Given the description of an element on the screen output the (x, y) to click on. 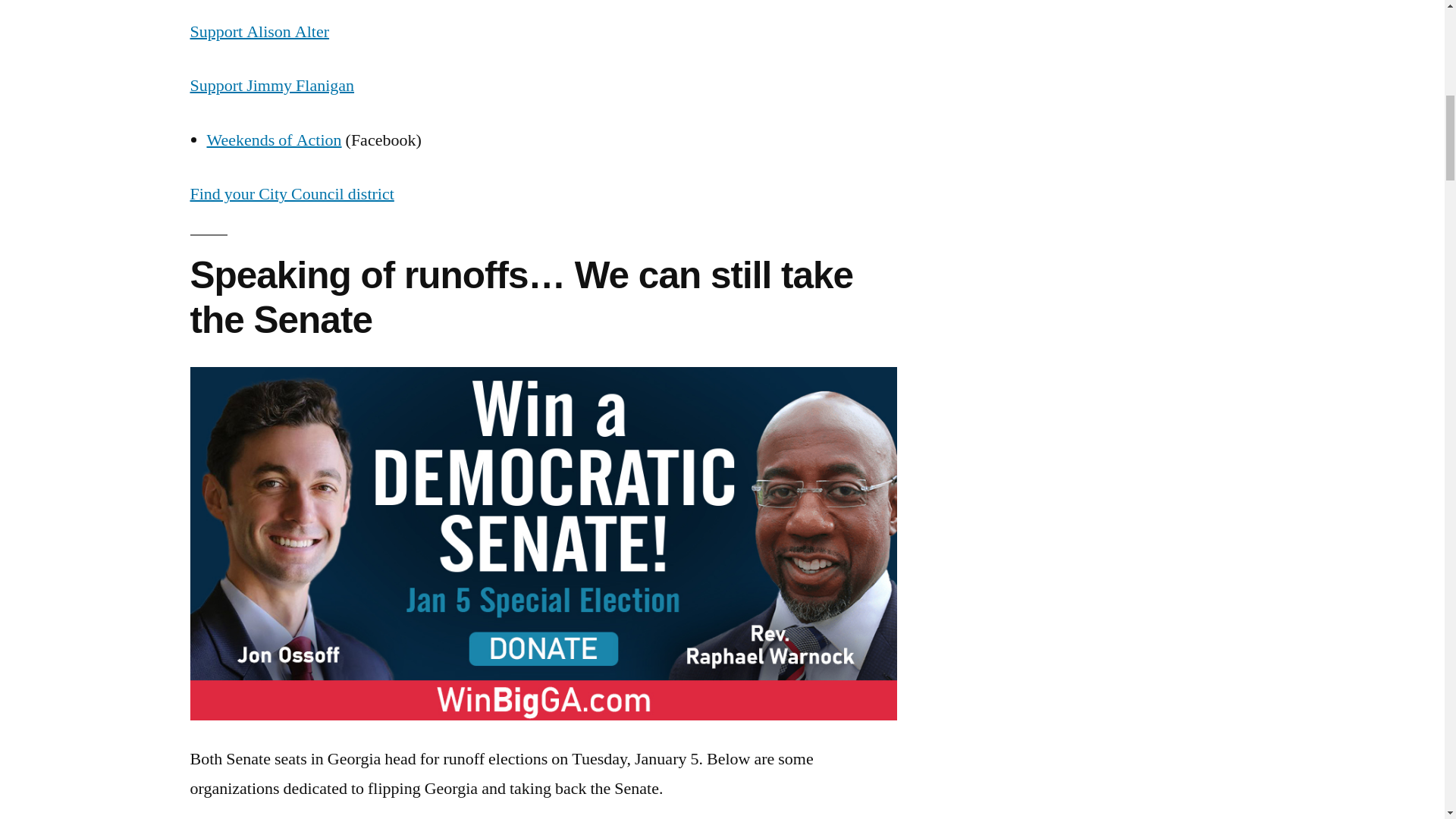
Support Alison Alter (259, 31)
Find your City Council district (291, 193)
Support Jimmy Flanigan (271, 85)
Weekends of Action (273, 139)
